Given the description of an element on the screen output the (x, y) to click on. 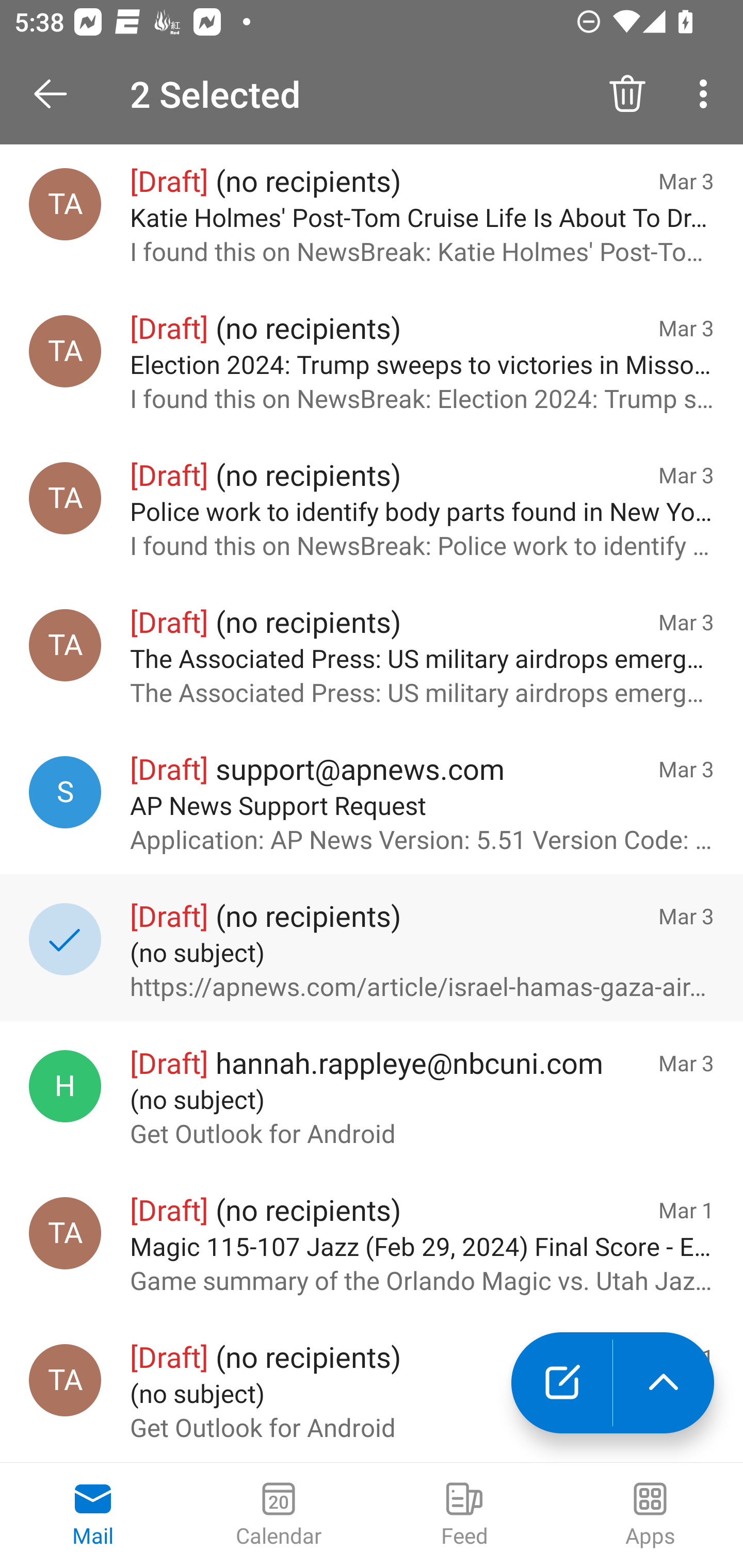
Delete (626, 93)
More options (706, 93)
Open Navigation Drawer (57, 94)
Test Appium, testappium002@outlook.com (64, 203)
Test Appium, testappium002@outlook.com (64, 351)
Test Appium, testappium002@outlook.com (64, 498)
Test Appium, testappium002@outlook.com (64, 645)
support@apnews.com (64, 791)
hannah.rappleye@nbcuni.com (64, 1086)
Test Appium, testappium002@outlook.com (64, 1233)
New mail (561, 1382)
launch the extended action menu (663, 1382)
Test Appium, testappium002@outlook.com (64, 1379)
Calendar (278, 1515)
Feed (464, 1515)
Apps (650, 1515)
